Given the description of an element on the screen output the (x, y) to click on. 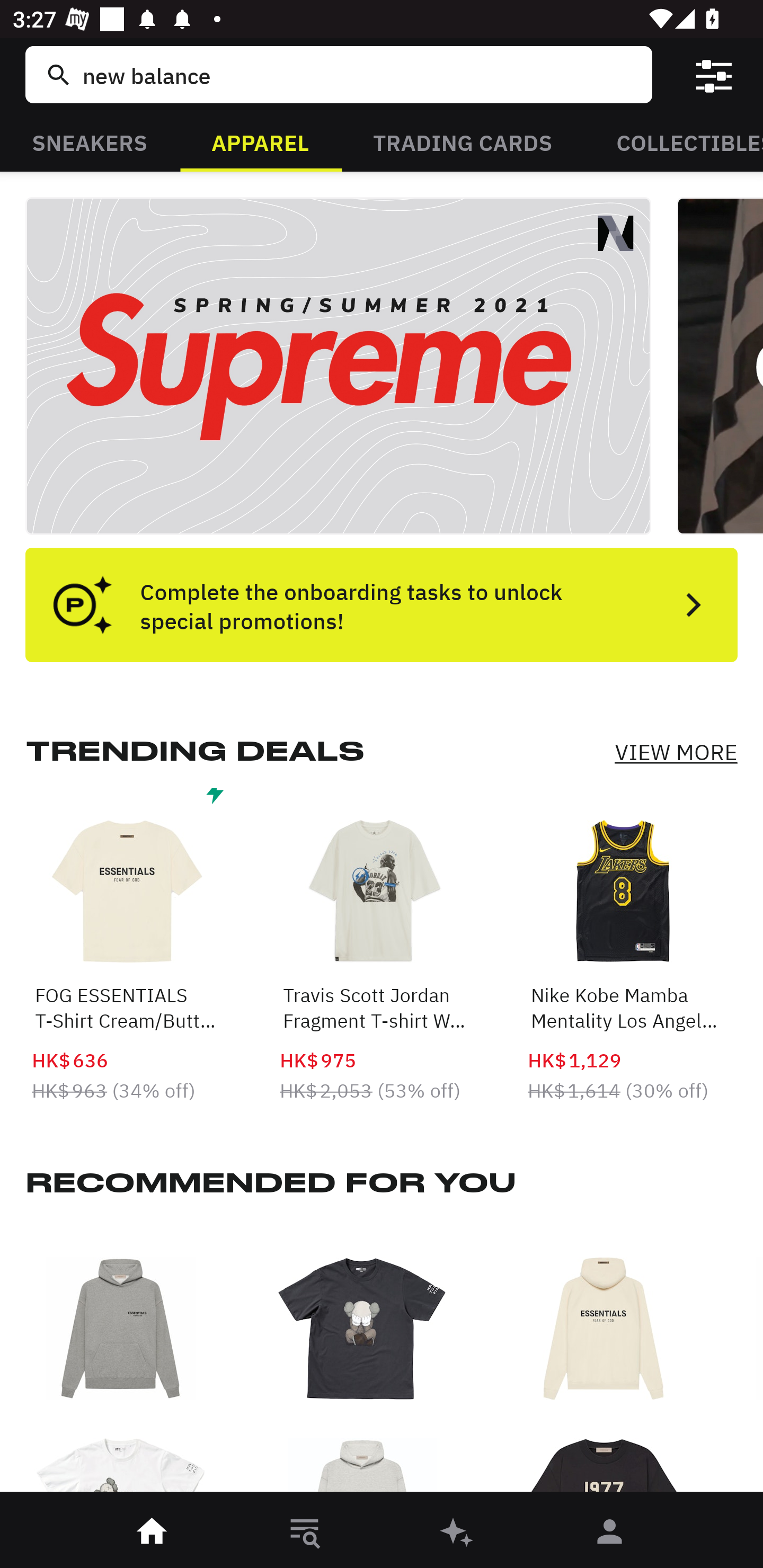
new balance (358, 74)
 (713, 74)
SNEAKERS (89, 140)
APPAREL (260, 140)
TRADING CARDS (462, 140)
COLLECTIBLES (673, 140)
VIEW MORE (675, 752)
󰋜 (152, 1532)
󱎸 (305, 1532)
󰫢 (457, 1532)
󰀄 (610, 1532)
